Given the description of an element on the screen output the (x, y) to click on. 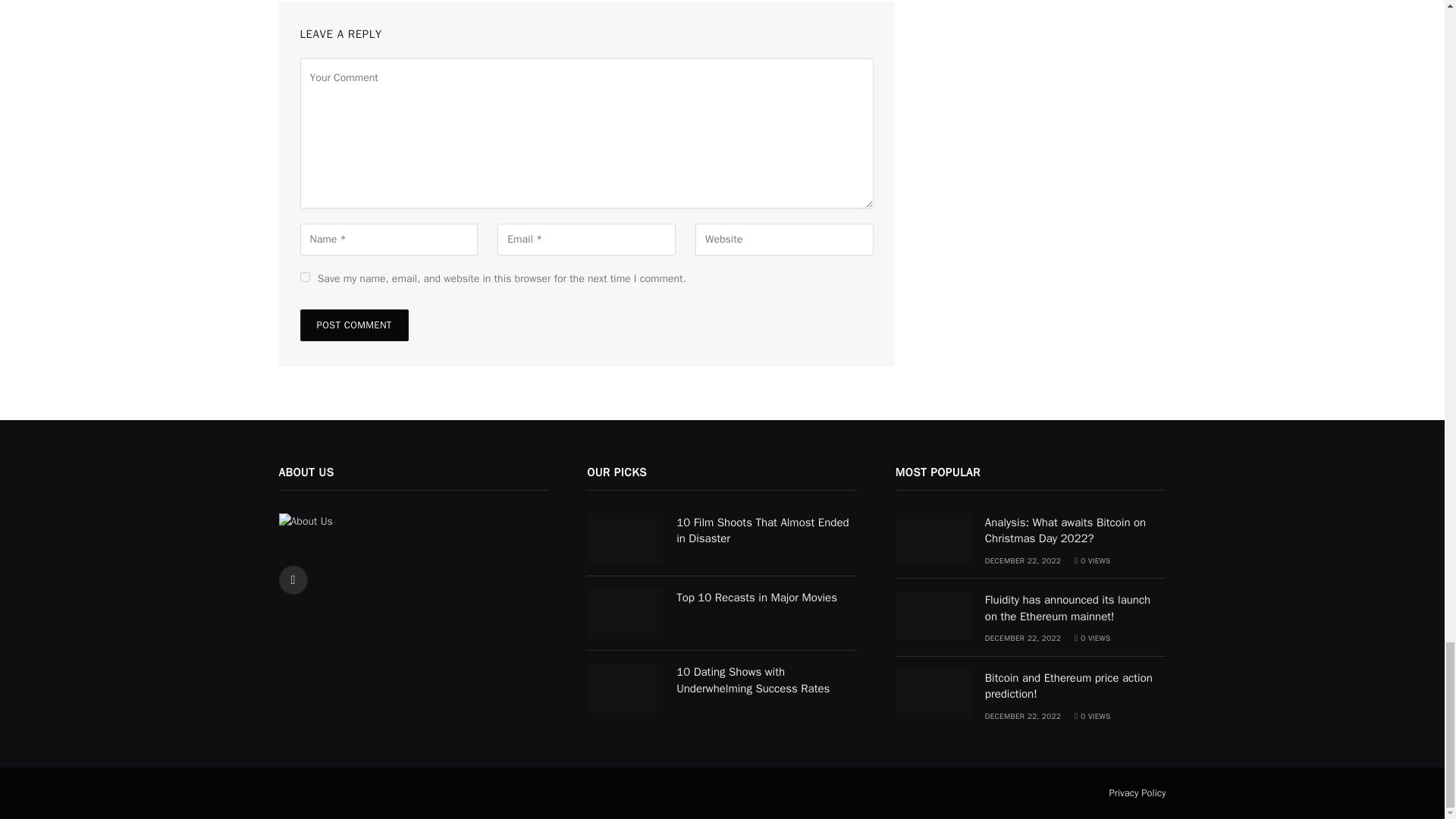
yes (304, 276)
Post Comment (354, 325)
